Given the description of an element on the screen output the (x, y) to click on. 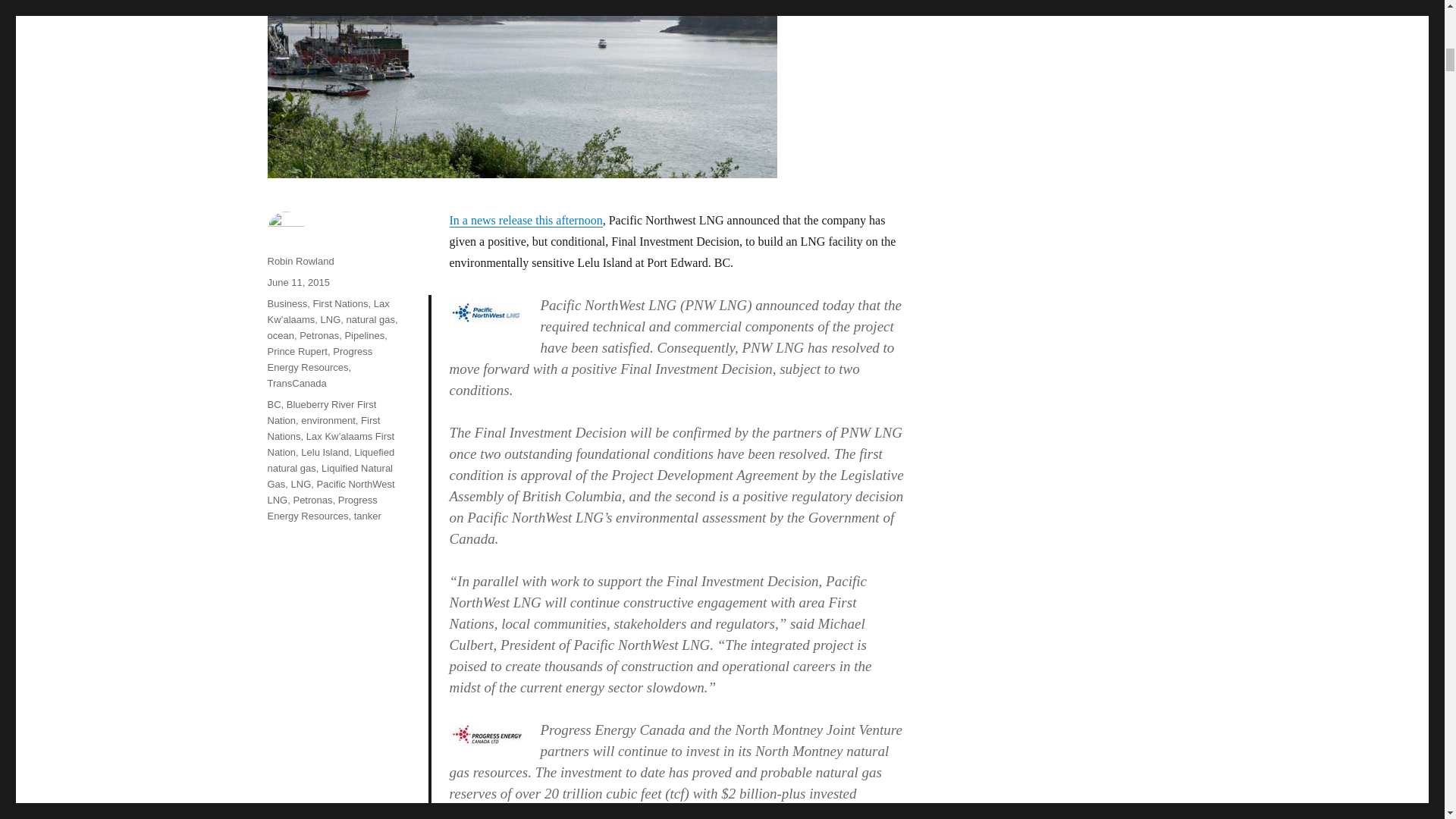
Business (286, 303)
LNG (330, 319)
Robin Rowland (299, 260)
First Nations (340, 303)
In a news release this afternoon (525, 219)
June 11, 2015 (297, 282)
